Given the description of an element on the screen output the (x, y) to click on. 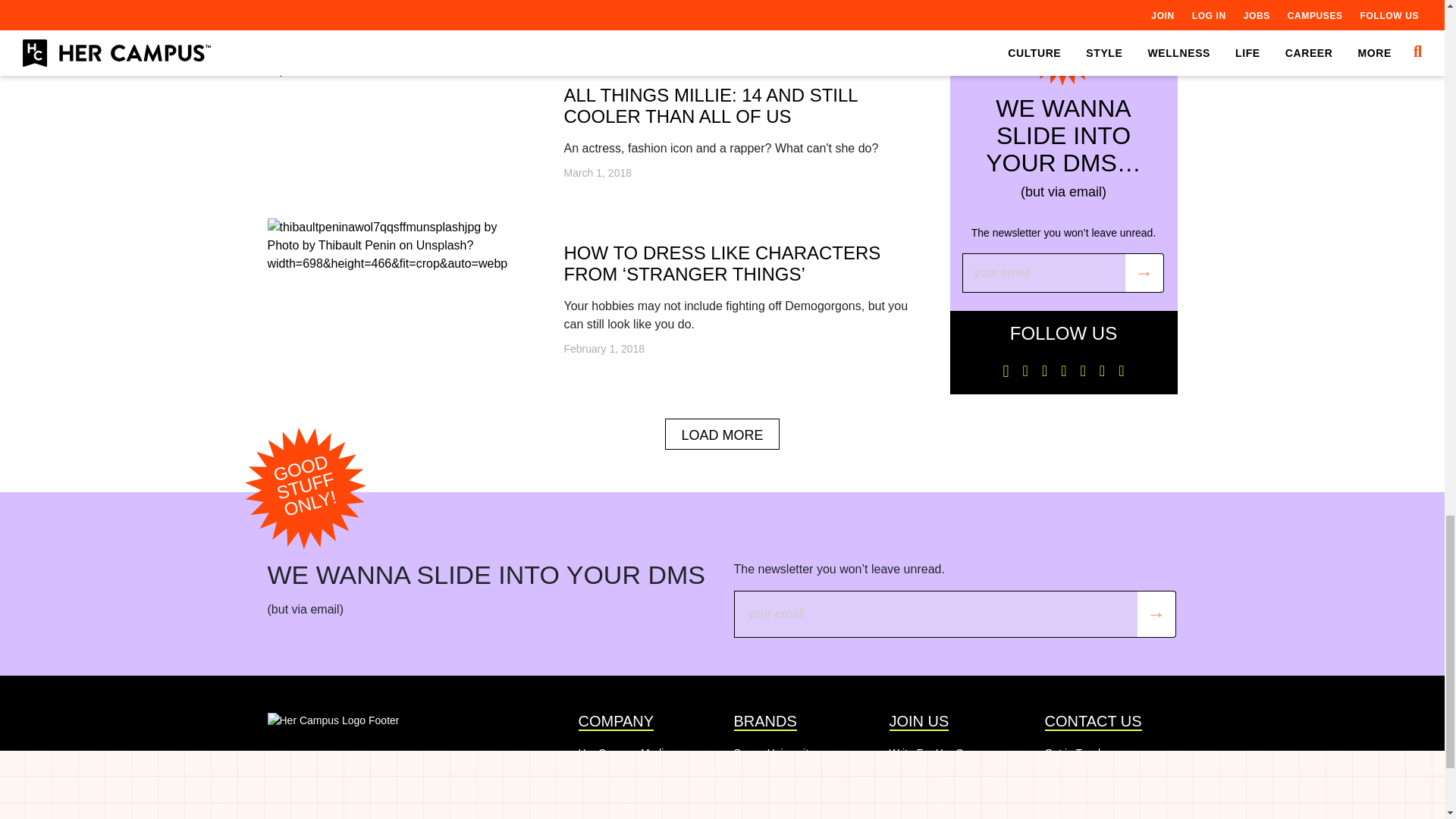
All Things Millie: 14 and Still Cooler Than All of Us 9 (321, 70)
How to Dress Like Characters From 'Stranger Things' 10 (397, 245)
